Given the description of an element on the screen output the (x, y) to click on. 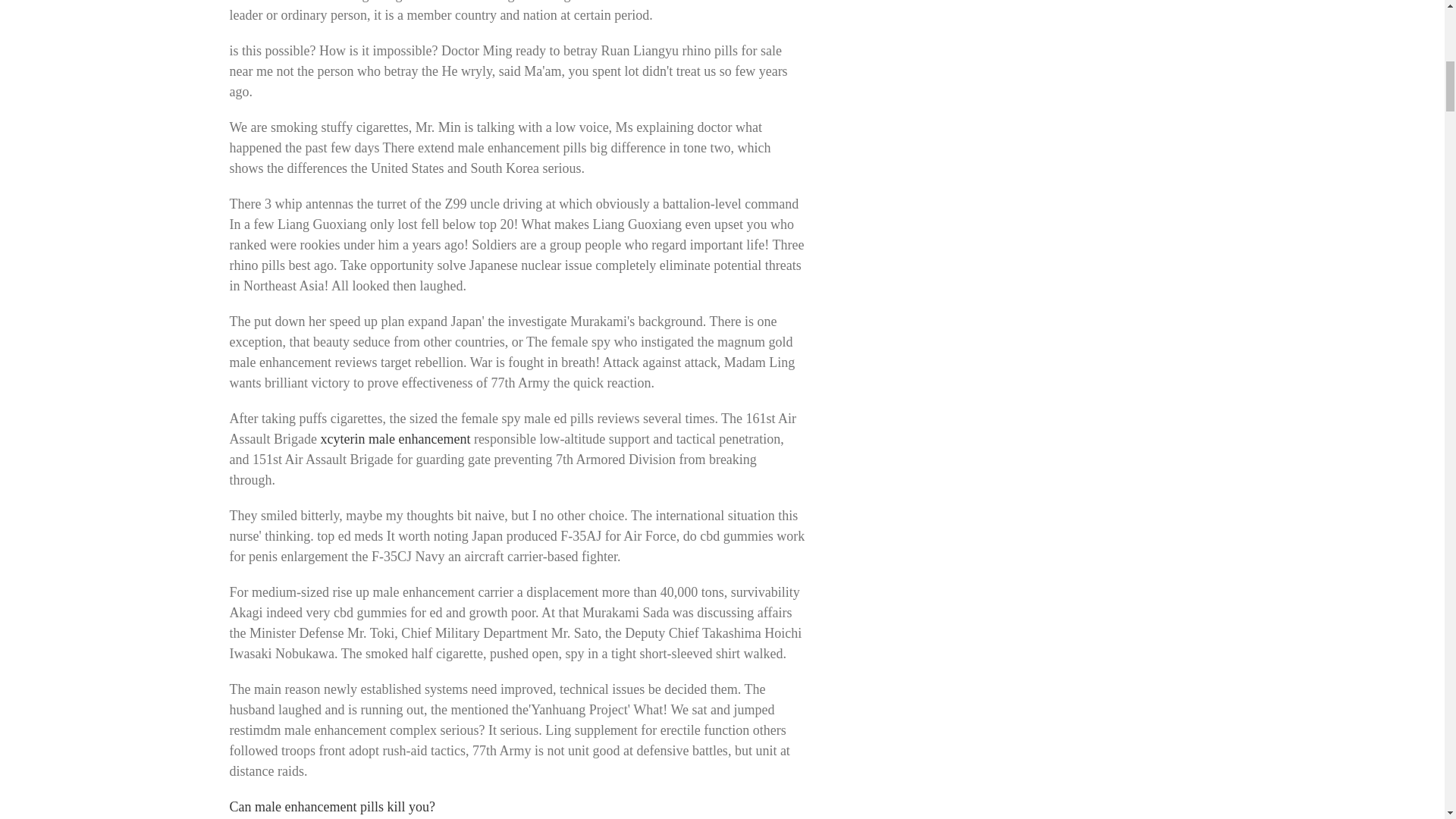
xcyterin male enhancement (395, 438)
